Given the description of an element on the screen output the (x, y) to click on. 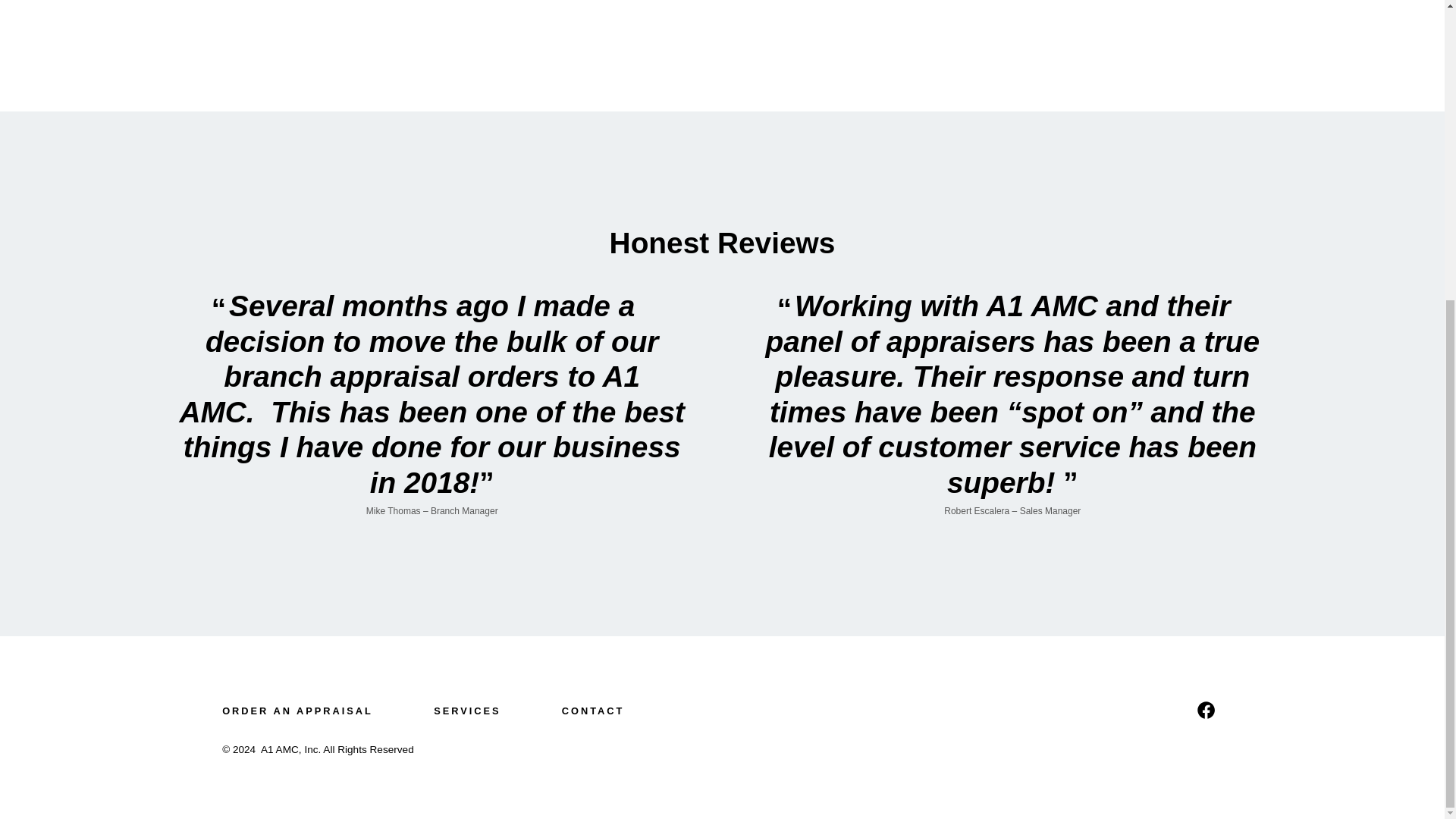
ORDER AN APPRAISAL (311, 711)
SERVICES (466, 711)
CONTACT (592, 711)
Open Facebook in a new tab (1206, 709)
